Given the description of an element on the screen output the (x, y) to click on. 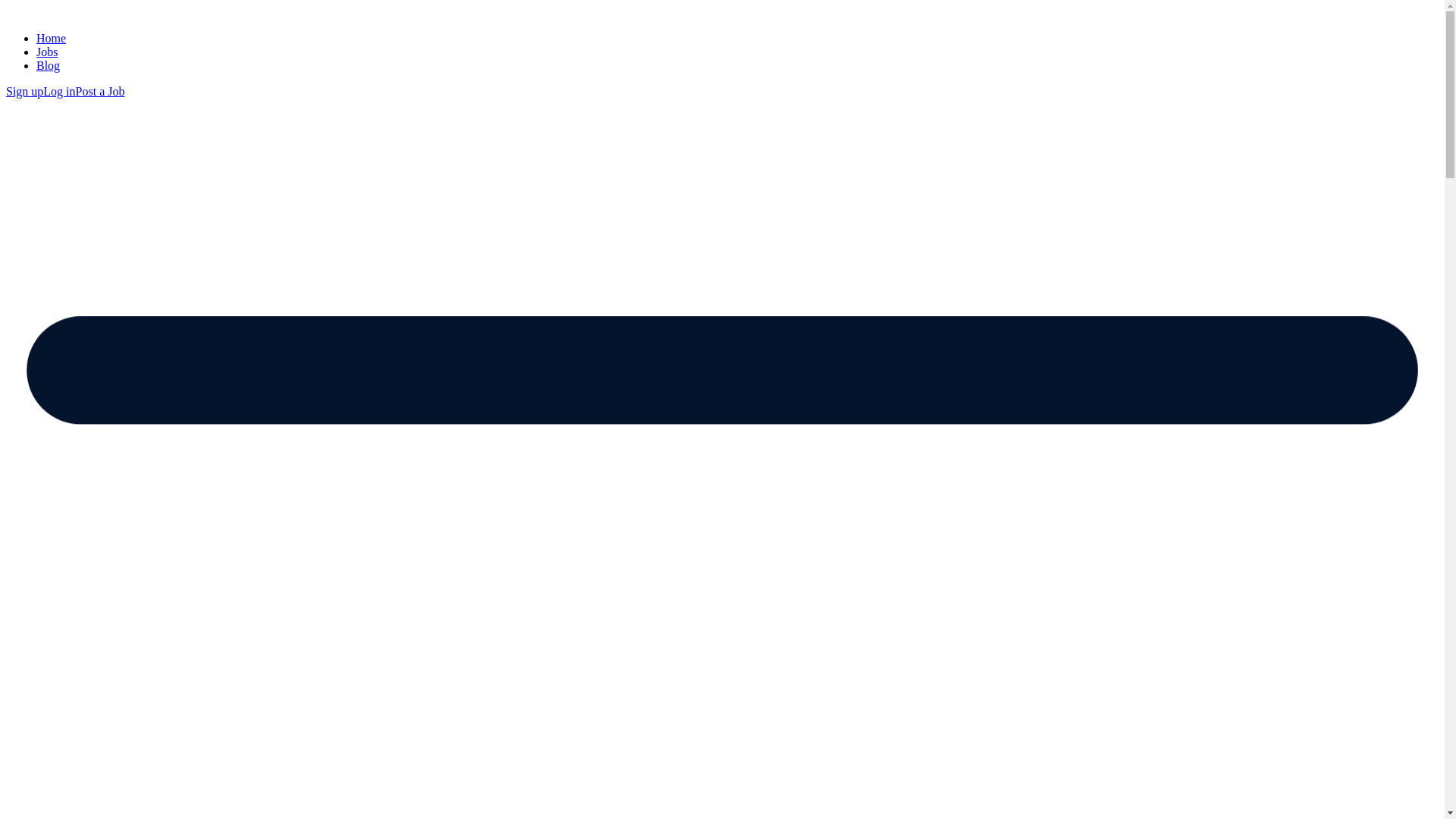
Jobs (47, 51)
Blog (47, 65)
Home (50, 38)
Post a Job (100, 91)
Log in (59, 91)
Sign up (24, 91)
